Given the description of an element on the screen output the (x, y) to click on. 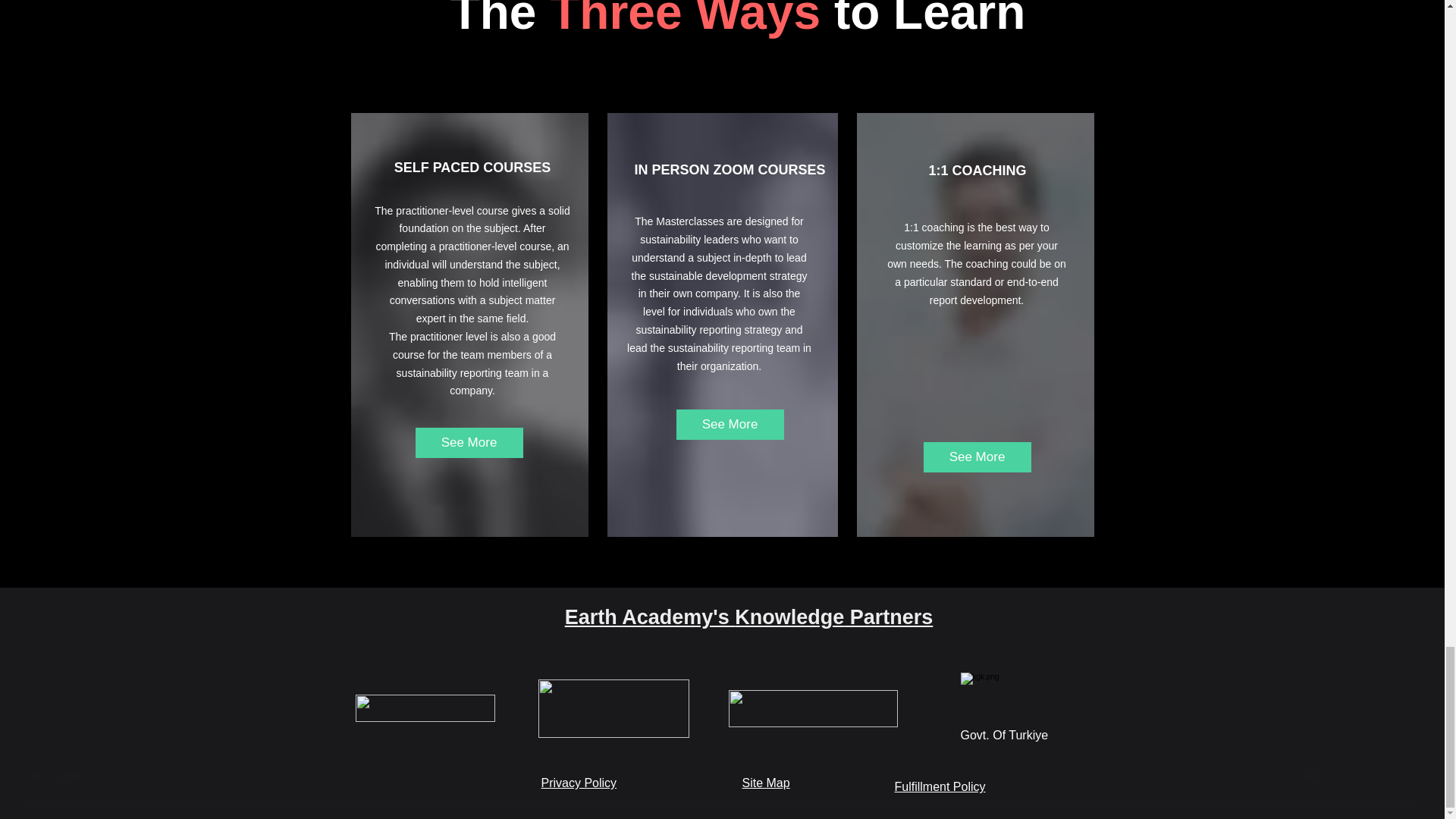
See More (468, 442)
Fulfillment Policy (940, 786)
Privacy Policy (579, 782)
Site Map (765, 782)
See More (730, 424)
See More (976, 457)
